Given the description of an element on the screen output the (x, y) to click on. 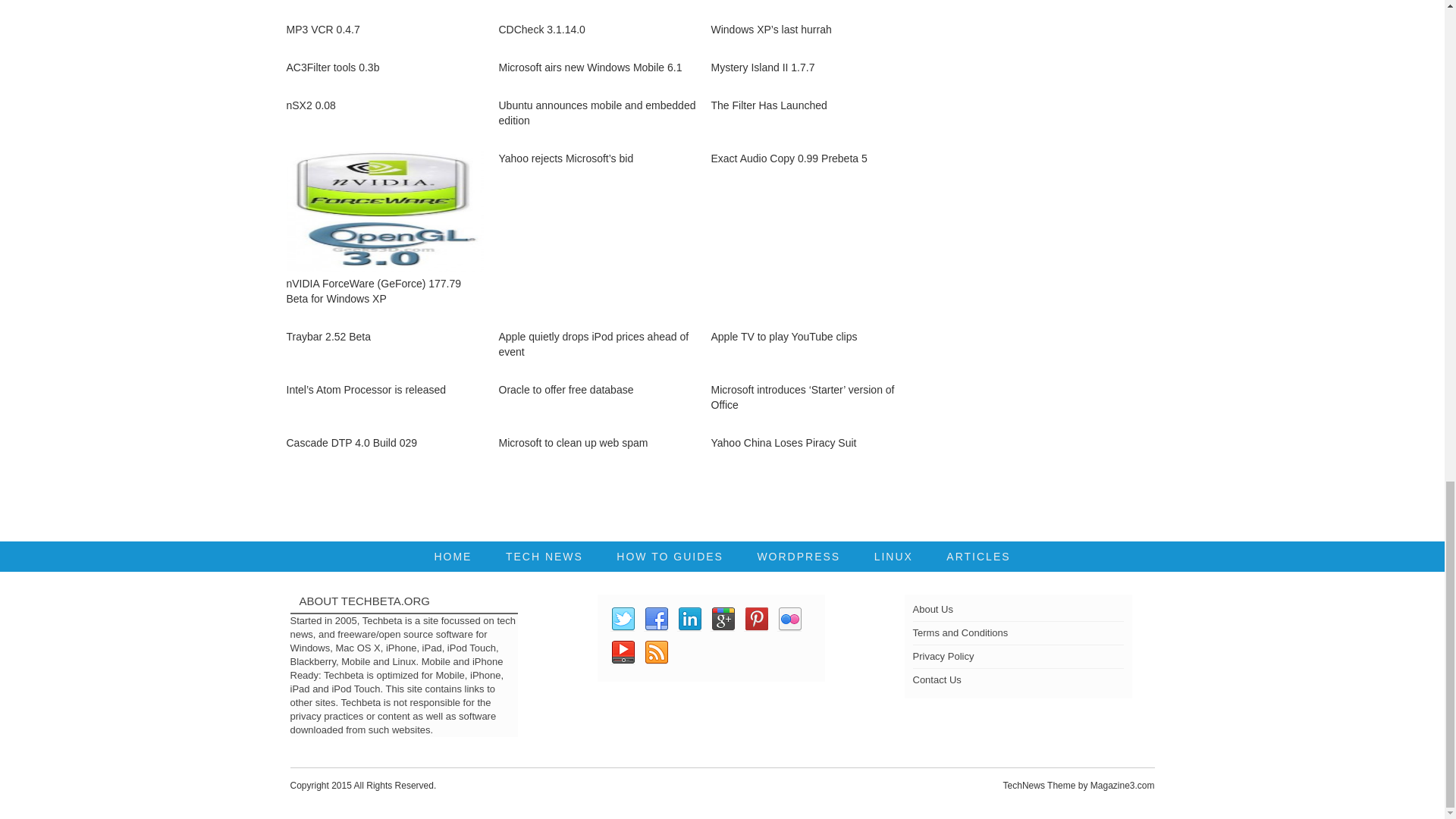
Google Plus (721, 619)
Twitter (621, 619)
Facebook (654, 619)
LinkedIn (688, 619)
